Given the description of an element on the screen output the (x, y) to click on. 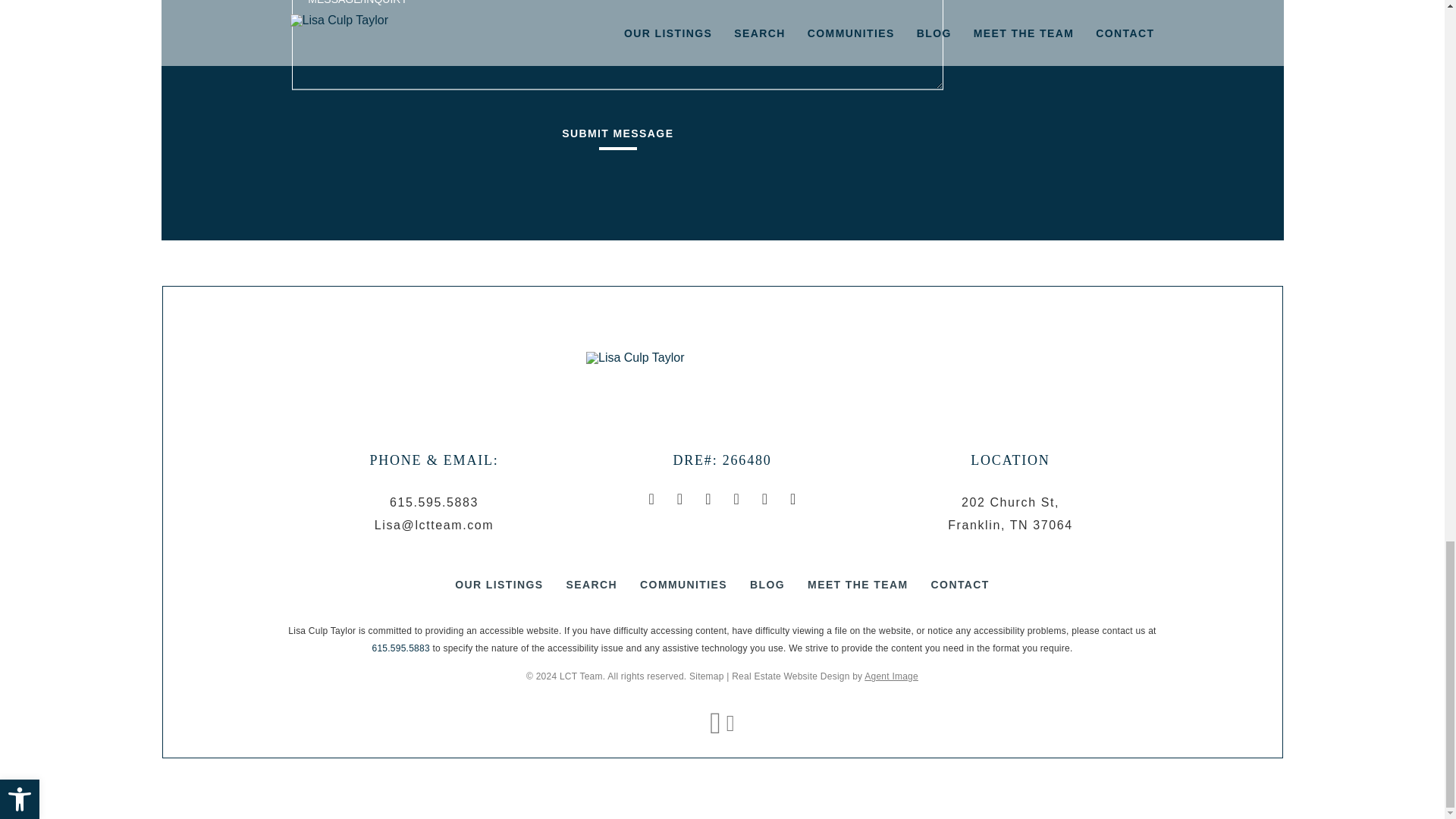
Linkedin (735, 498)
Facebook (651, 498)
Youtube (764, 498)
Instagram (679, 498)
Twitter (792, 498)
Tiktok (707, 498)
